Given the description of an element on the screen output the (x, y) to click on. 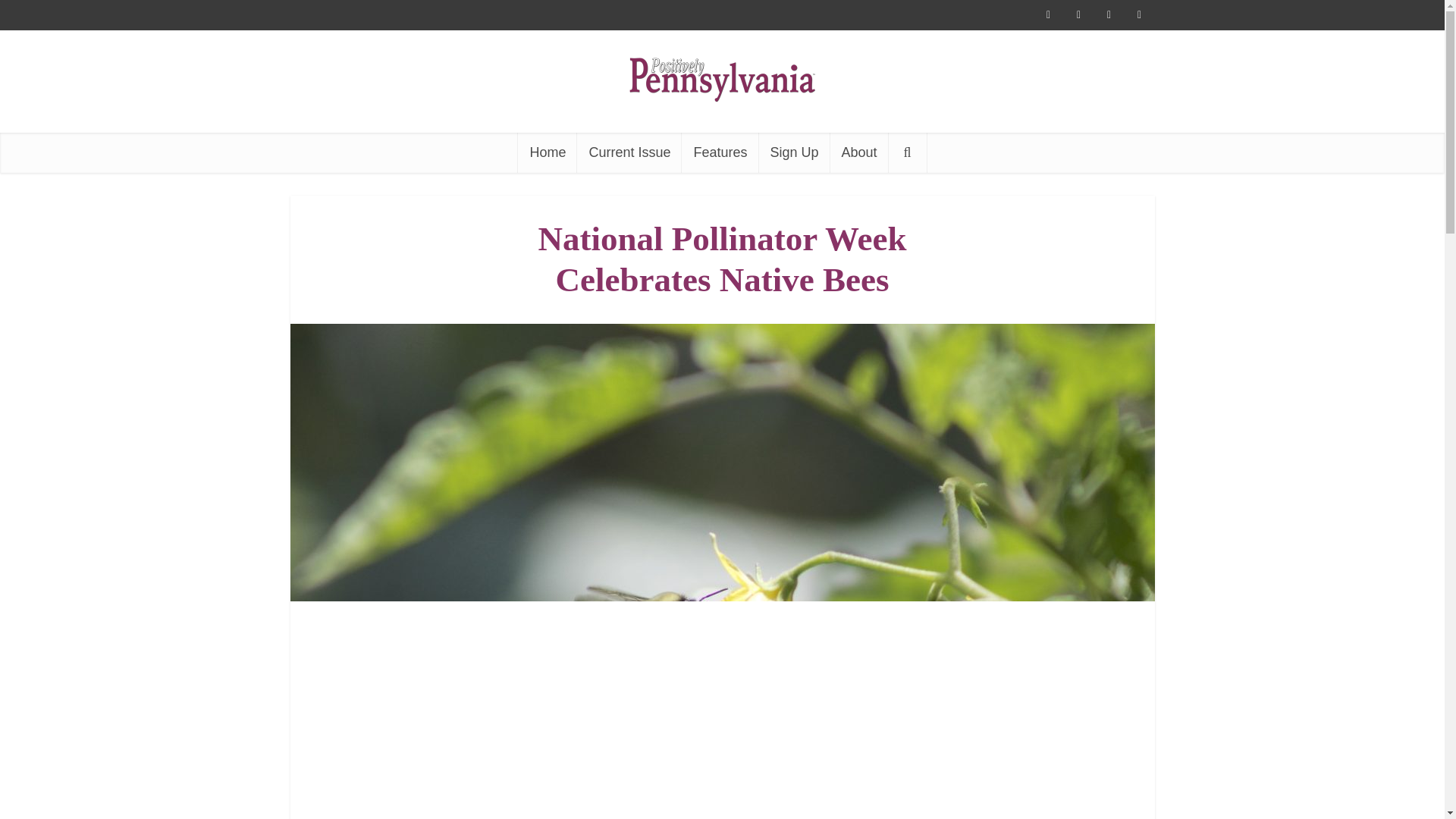
Features (719, 152)
About (858, 152)
Sign Up (793, 152)
Home (547, 152)
Current Issue (628, 152)
